Given the description of an element on the screen output the (x, y) to click on. 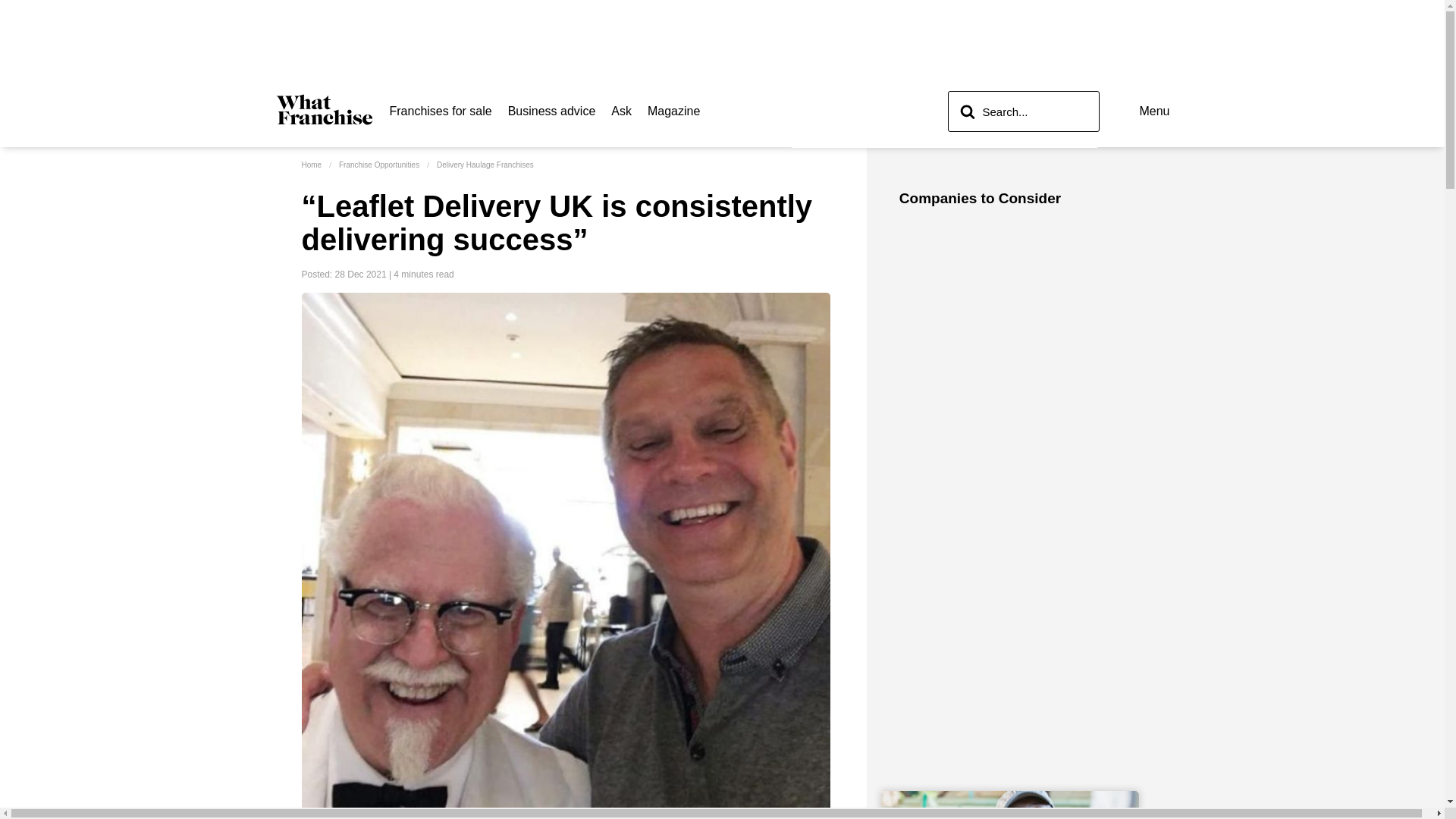
Franchises for sale (441, 110)
Magazine (673, 110)
Business advice (551, 110)
Delivery Haulage Franchises (485, 164)
Franchise Opportunities (379, 164)
Ask (621, 110)
Home (311, 164)
